Given the description of an element on the screen output the (x, y) to click on. 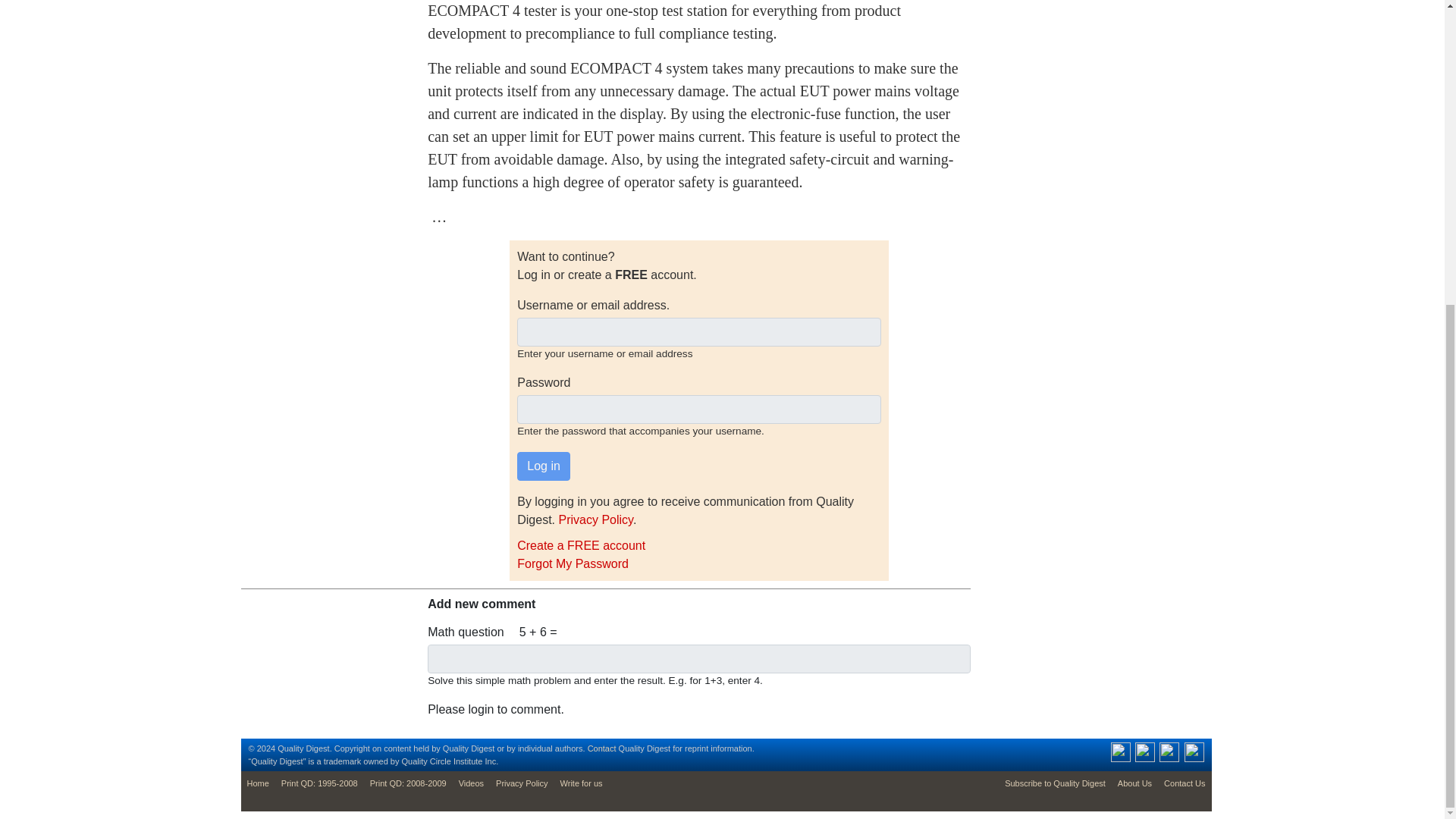
About Us (1134, 783)
The Home Page (258, 783)
Subscribe (1055, 783)
Log in (543, 466)
